Given the description of an element on the screen output the (x, y) to click on. 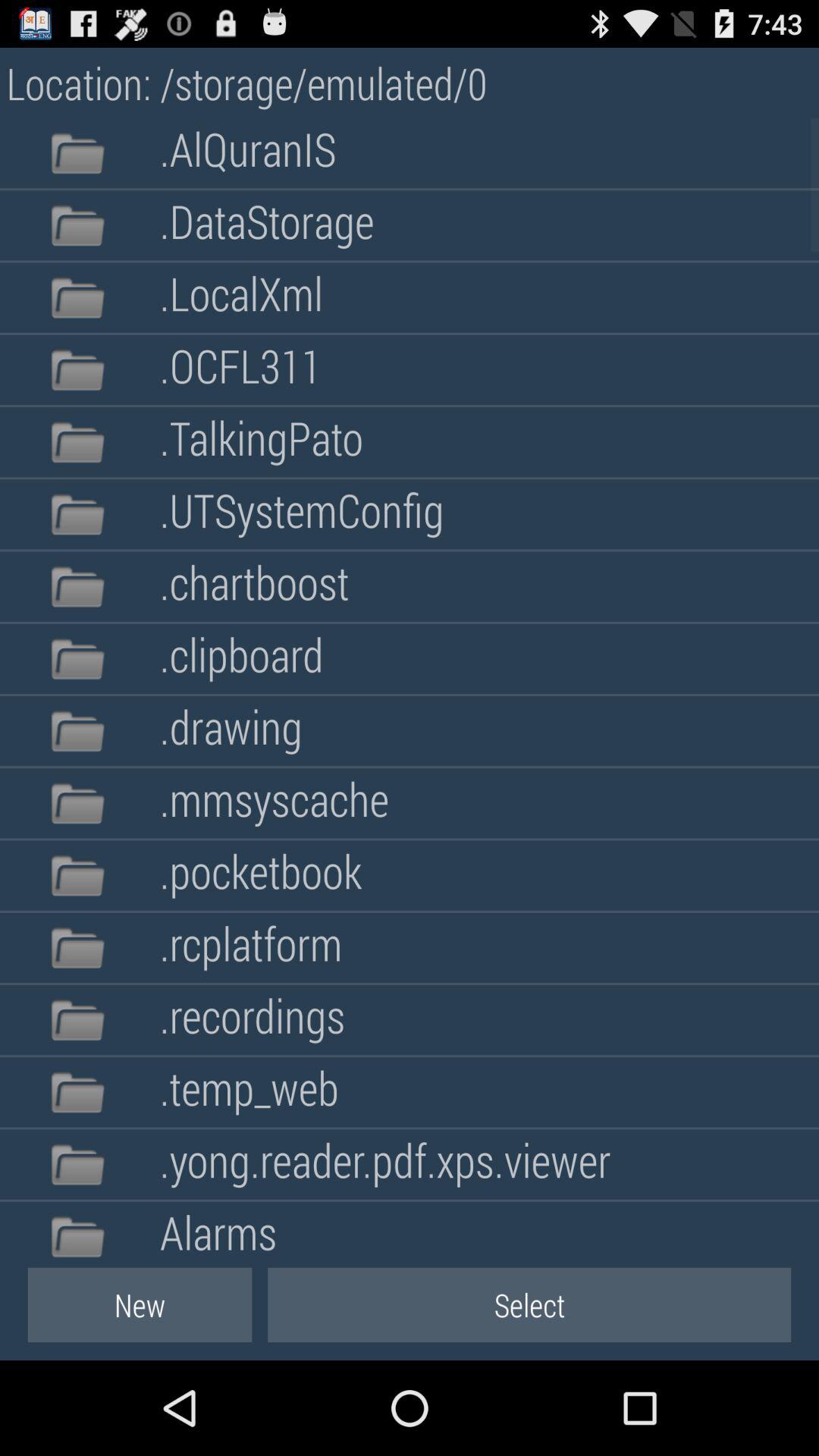
select the .chartboost (254, 586)
